Given the description of an element on the screen output the (x, y) to click on. 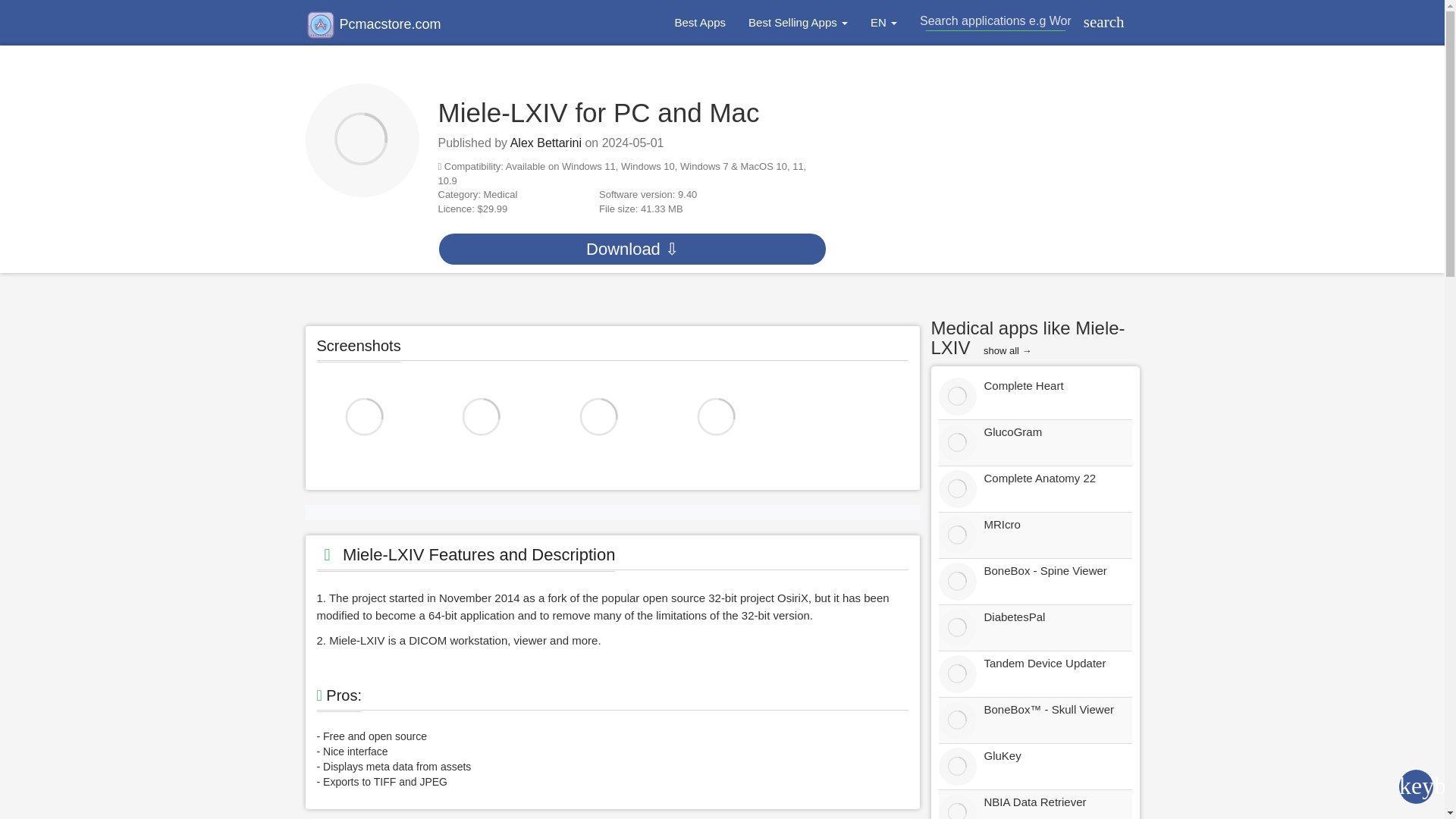
Alex Bettarini (545, 142)
Best Apps (699, 22)
Best Selling Apps (797, 22)
EN (883, 22)
search (1101, 22)
Pcmacstore.com (372, 23)
